Given the description of an element on the screen output the (x, y) to click on. 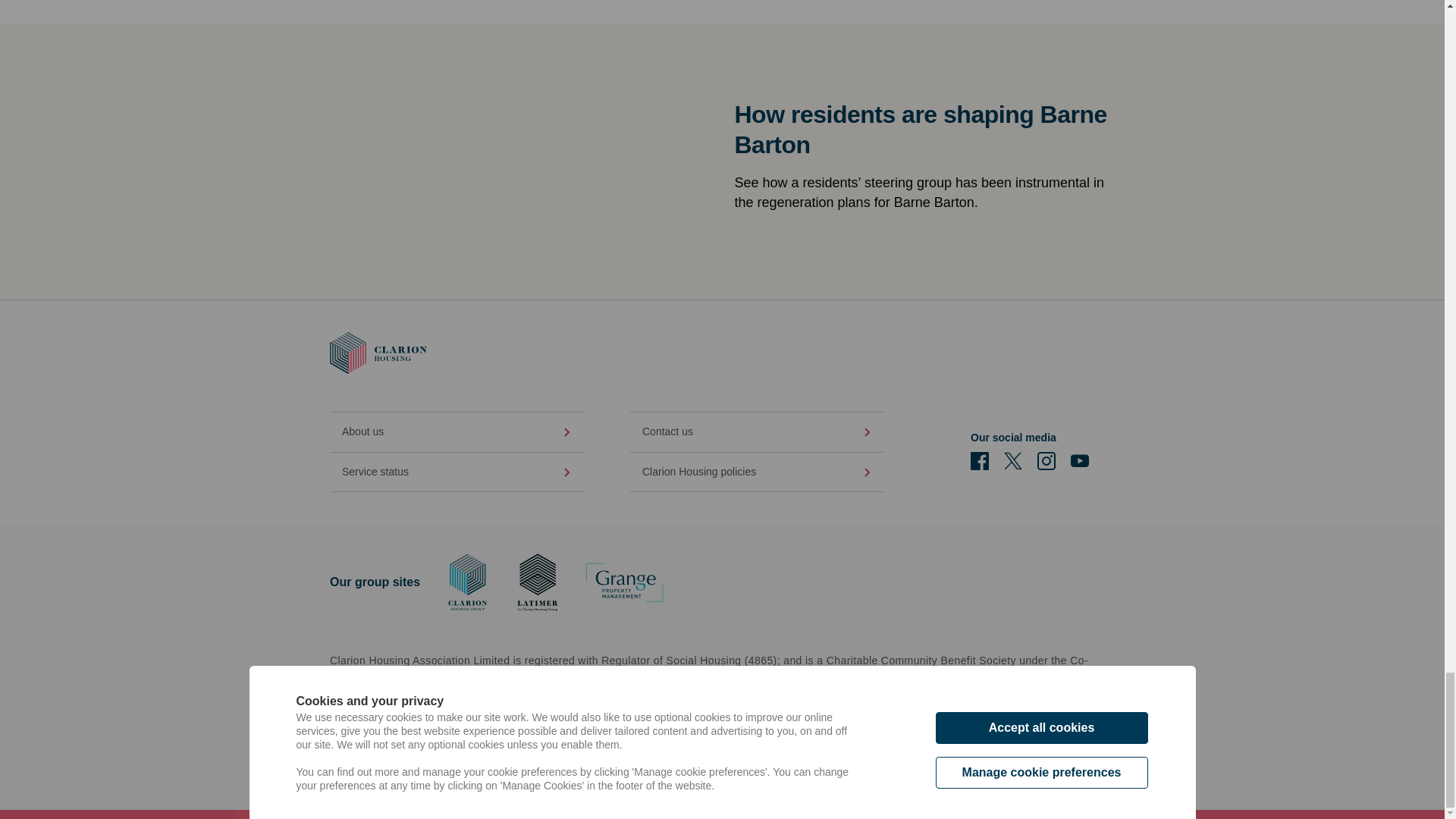
Clarion Housing (378, 353)
Facebook (979, 461)
